Given the description of an element on the screen output the (x, y) to click on. 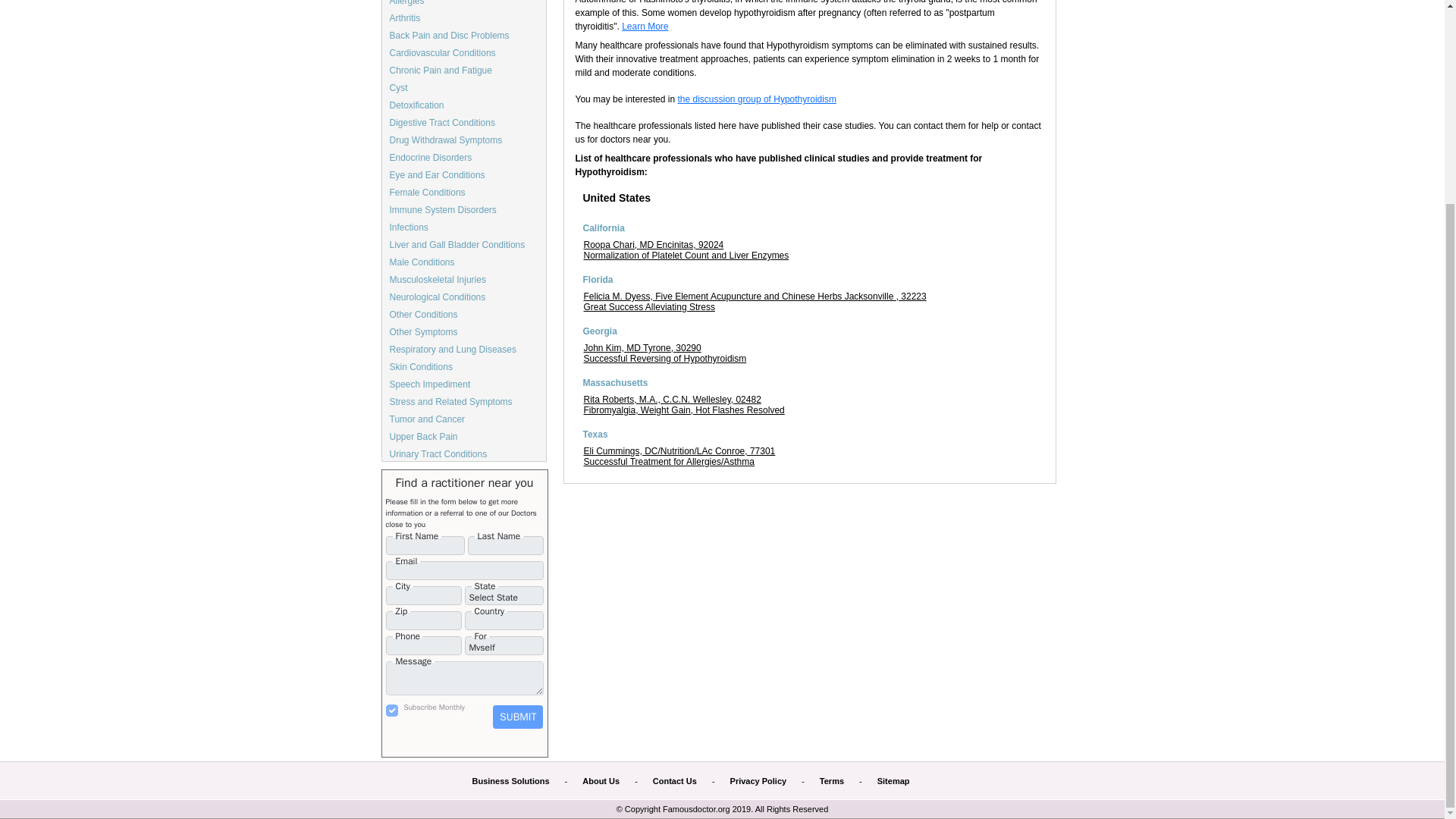
Other Symptoms (424, 331)
Arthritis (405, 18)
Eye and Ear Conditions (437, 174)
Skin Conditions (421, 366)
Digestive Tract Conditions (442, 122)
Tumor and Cancer (427, 419)
SUBMIT (518, 716)
Other Conditions (424, 314)
Musculoskeletal Injuries (438, 279)
Speech Impediment (430, 384)
